Given the description of an element on the screen output the (x, y) to click on. 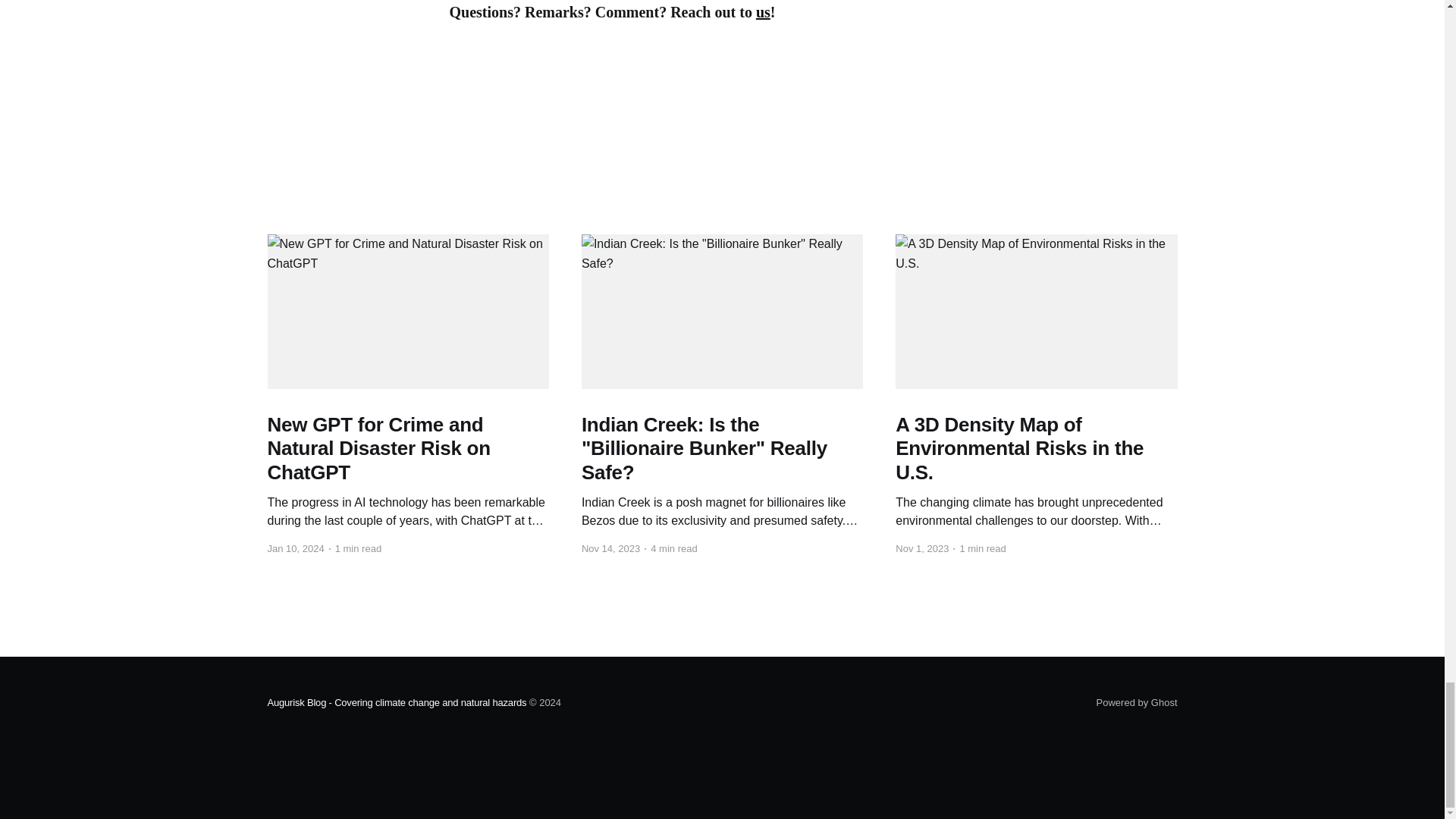
Powered by Ghost (1136, 702)
Augurisk Blog - Covering climate change and natural hazards (395, 702)
